Given the description of an element on the screen output the (x, y) to click on. 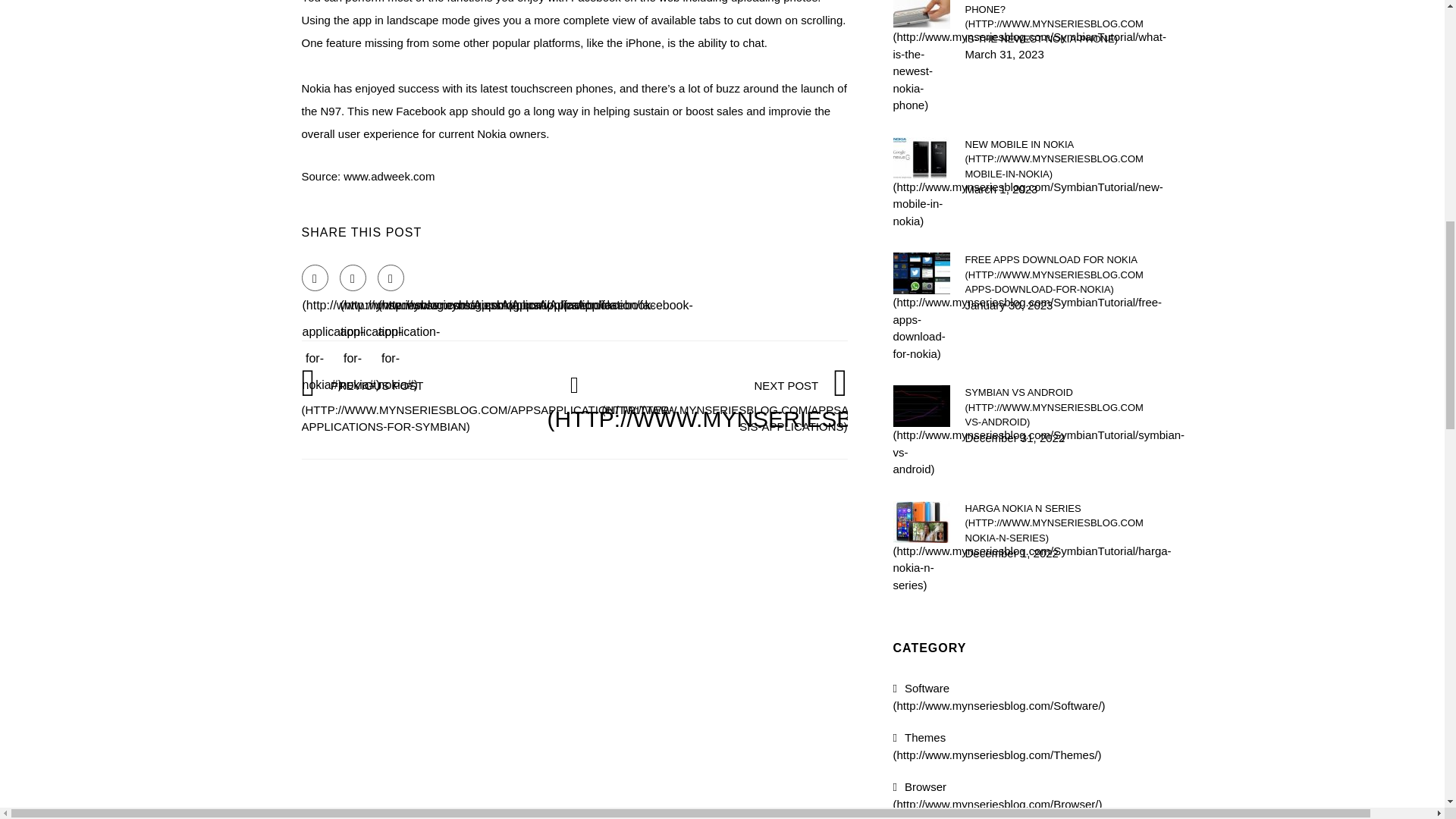
View all posts filed under Themes (997, 746)
Google Plus (390, 277)
Twitter (352, 277)
Facebook (315, 277)
View all posts filed under Browser (997, 795)
NEXT POST (780, 405)
View all posts filed under Software (999, 696)
PREVIOUS POST (486, 405)
WHAT IS THE NEWEST NOKIA PHONE? (1052, 22)
